Given the description of an element on the screen output the (x, y) to click on. 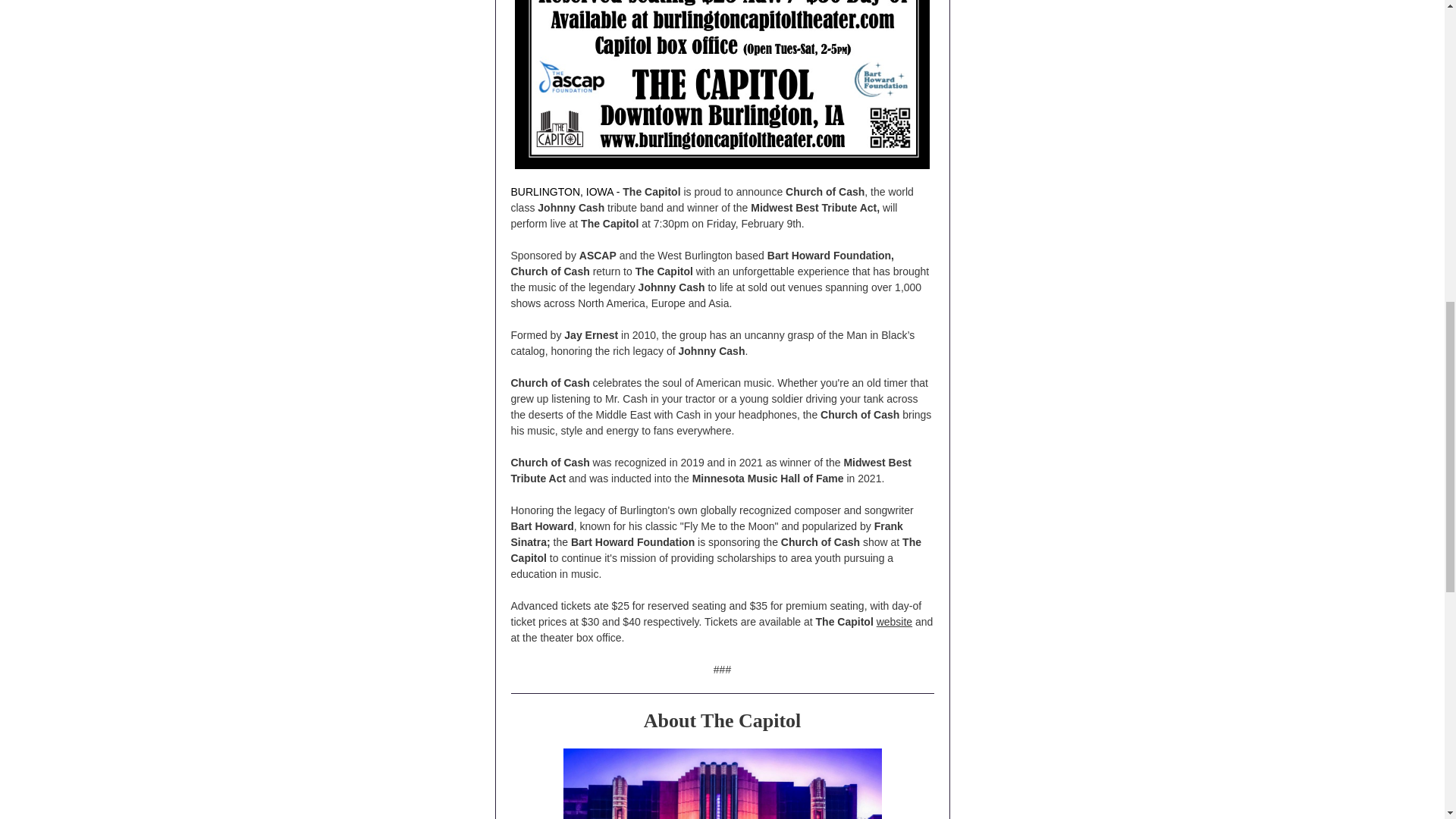
website (894, 621)
